Given the description of an element on the screen output the (x, y) to click on. 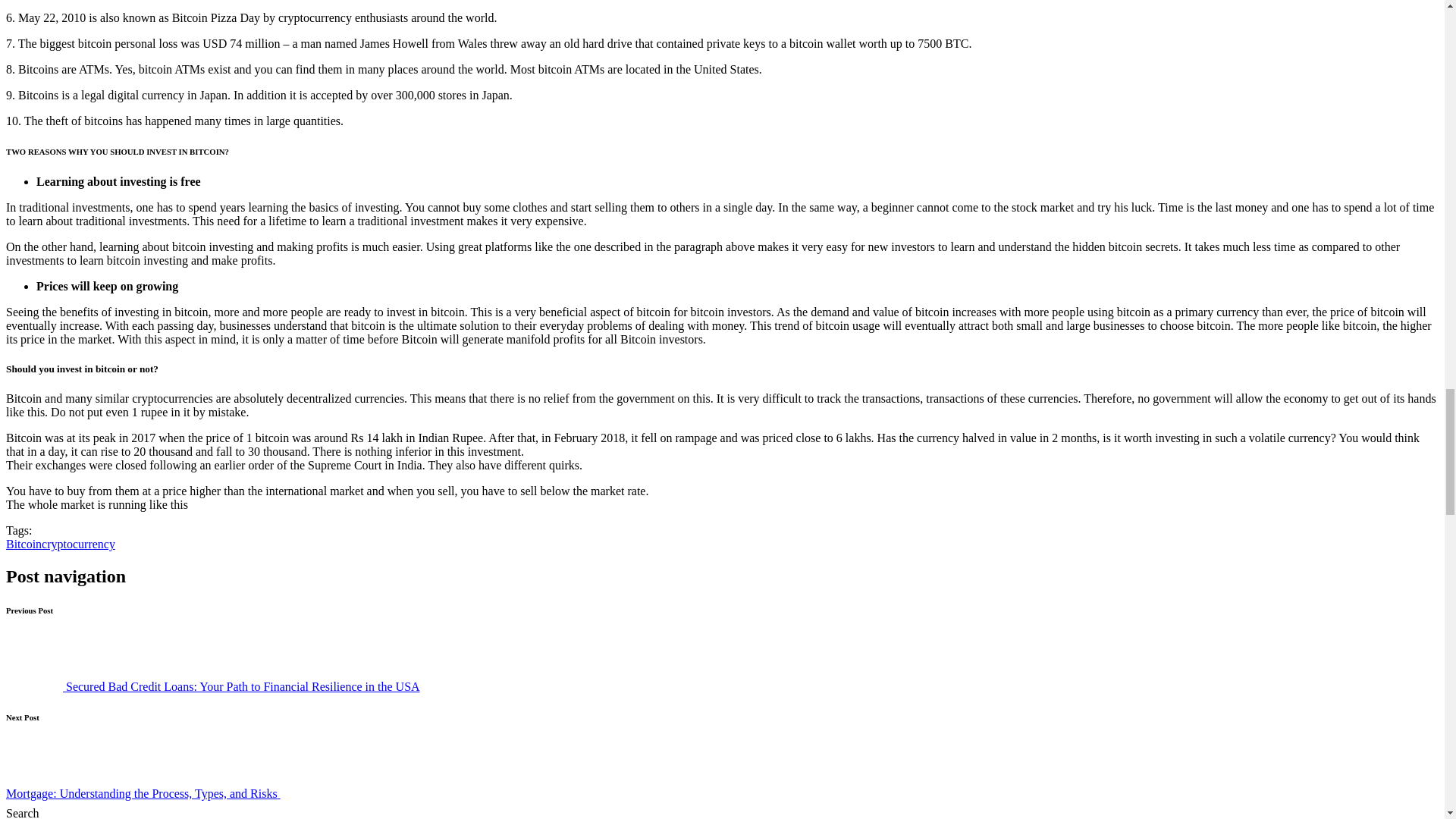
Mortgage: Understanding the Process, Types, and Risks 5 (309, 769)
